Given the description of an element on the screen output the (x, y) to click on. 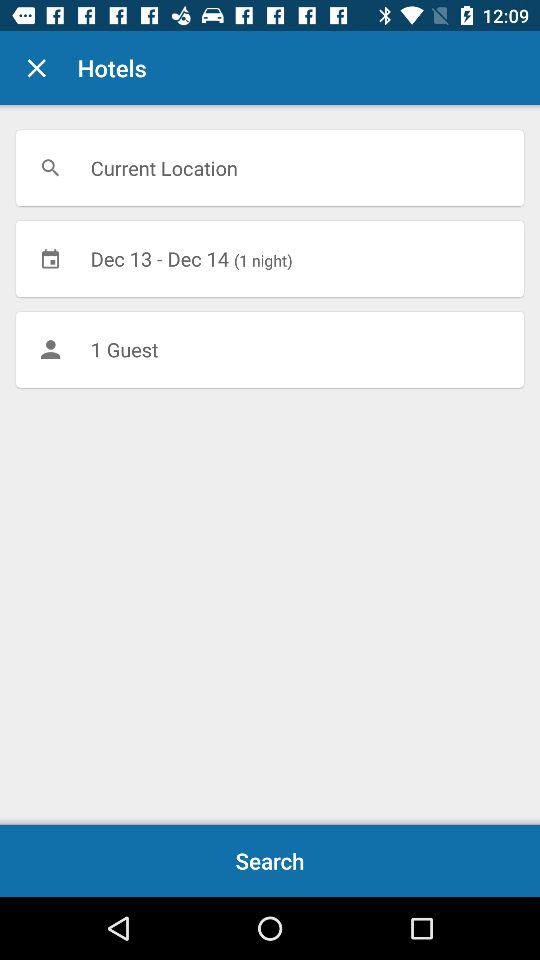
turn on the item below dec 13 dec item (269, 349)
